Given the description of an element on the screen output the (x, y) to click on. 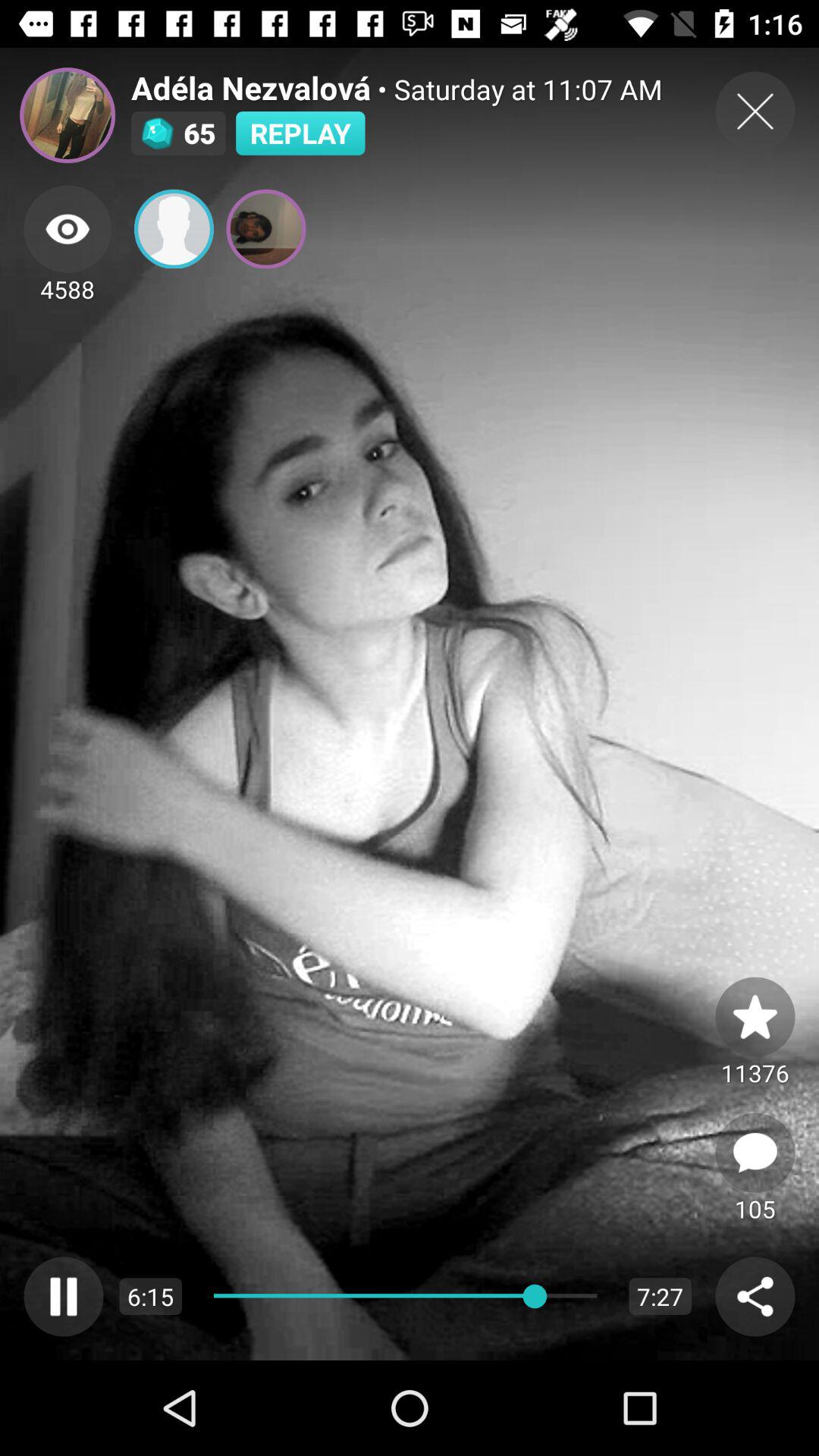
close window (755, 111)
